Given the description of an element on the screen output the (x, y) to click on. 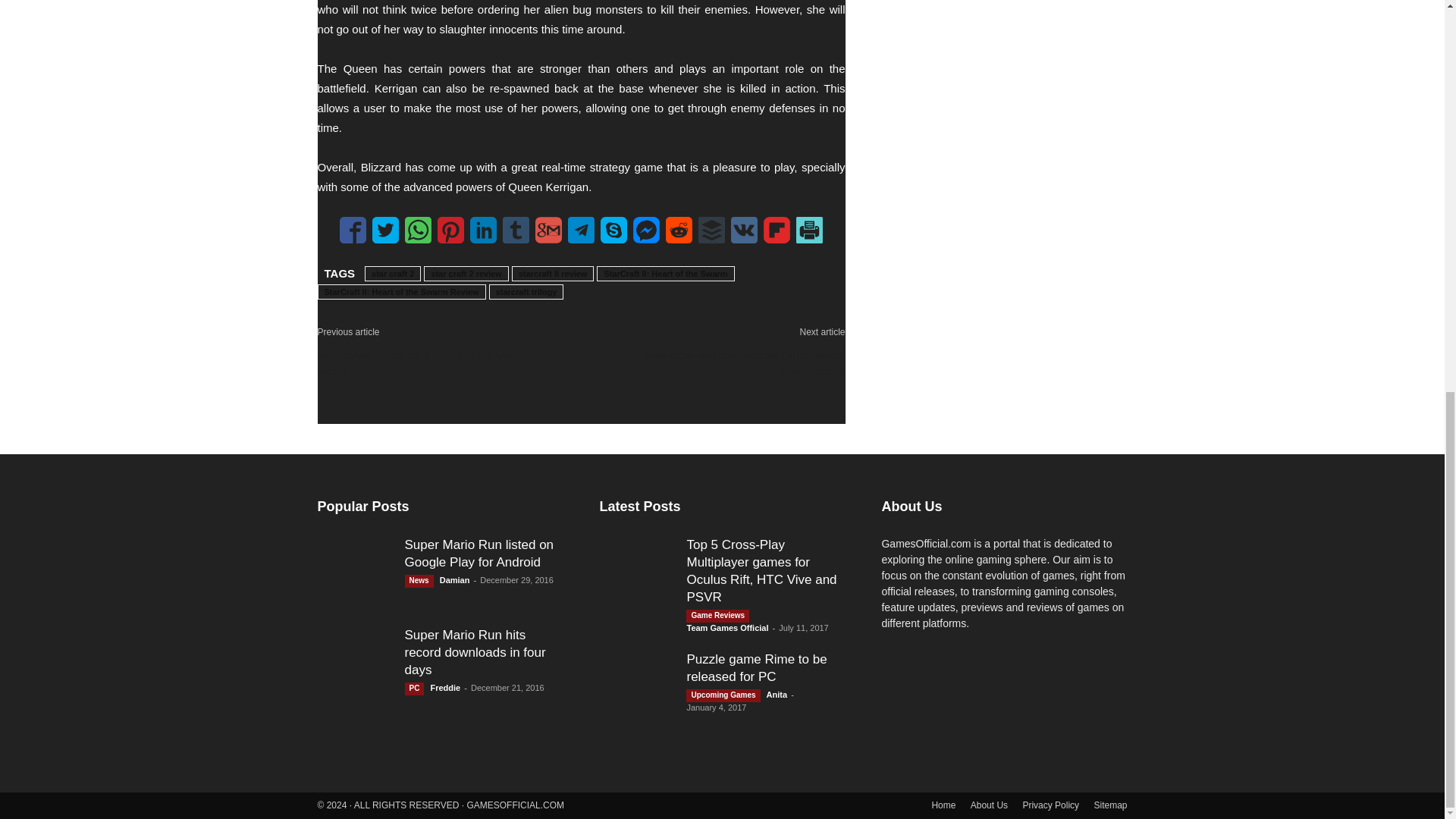
Send by Gmail (548, 230)
Tweet (385, 230)
Share on Linkedin (483, 230)
Share on Tumblr (515, 230)
Share on Facebook (352, 230)
Send on Facebook Messenger (646, 230)
Share on WhatsApp (417, 230)
Share on VK (743, 230)
Share on Reddit (679, 230)
Share on Buffer (711, 230)
